Given the description of an element on the screen output the (x, y) to click on. 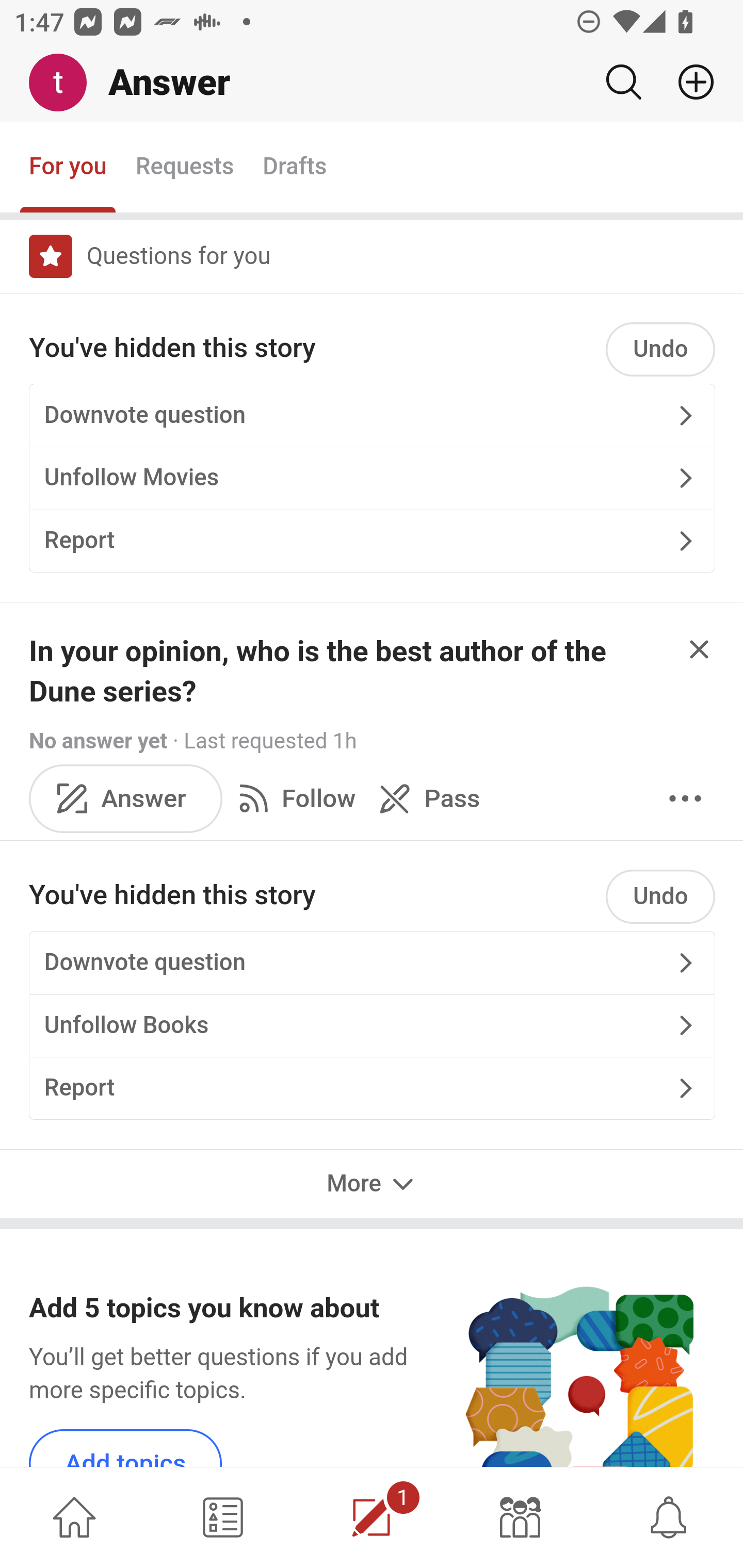
Me Answer Search Add (371, 82)
Me (64, 83)
Search (623, 82)
Add (688, 82)
For you (68, 167)
Requests (183, 167)
Drafts (295, 167)
Undo (660, 349)
Downvote question (371, 415)
Unfollow Movies (371, 477)
Report (371, 540)
Hide (699, 649)
No answer yet (97, 741)
Answer (125, 798)
Follow (293, 798)
Pass (425, 798)
More (684, 798)
Undo (660, 896)
Downvote question (371, 962)
Unfollow Books (371, 1025)
Report (371, 1087)
More (371, 1183)
